Given the description of an element on the screen output the (x, y) to click on. 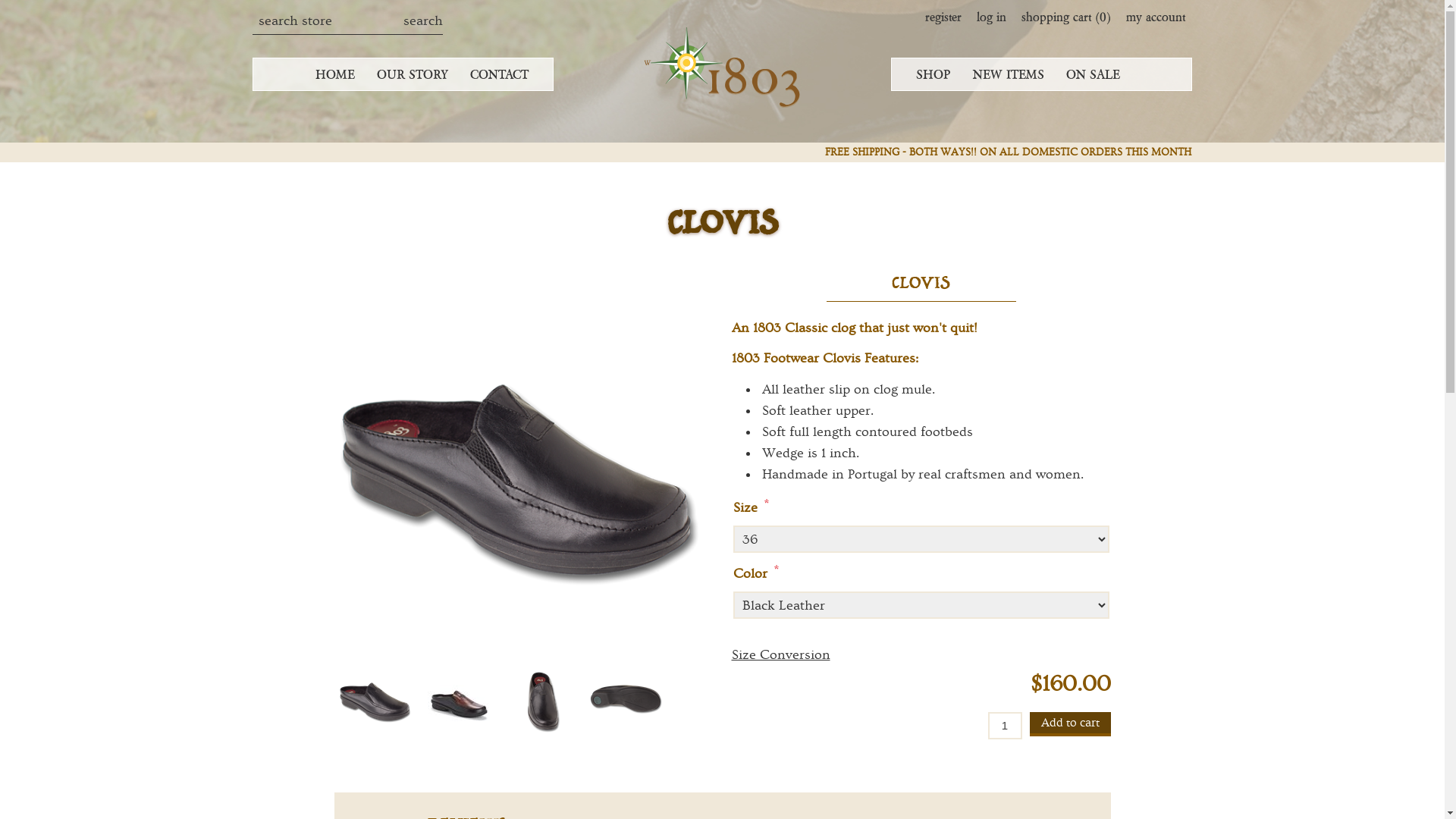
Search Element type: text (422, 20)
Size Conversion Element type: text (780, 654)
shopping cart (0) Element type: text (1065, 16)
CONTACT Element type: text (499, 74)
Clovis Black Leather Womens Shoe Element type: hover (522, 463)
ON SALE Element type: text (1093, 74)
Clovis  Womens Shoe Element type: hover (626, 698)
my account Element type: text (1154, 16)
Clovis  Womens Shoe Element type: hover (626, 698)
log in Element type: text (991, 16)
Add to cart Element type: text (1069, 724)
HOME Element type: text (334, 74)
OUR STORY Element type: text (412, 74)
Clovis Black Leather Womens Shoe Element type: hover (376, 698)
NEW ITEMS Element type: text (1008, 74)
Clovis Black Leather Womens Shoe Element type: hover (542, 698)
SHOP Element type: text (933, 74)
Clovis Black/Brown Element type: hover (458, 698)
register Element type: text (943, 16)
Clovis Black/Brown Element type: hover (459, 698)
Clovis Black Leather Womens Shoe Element type: hover (376, 698)
Clovis Black Leather Womens Shoe Element type: hover (542, 698)
